Given the description of an element on the screen output the (x, y) to click on. 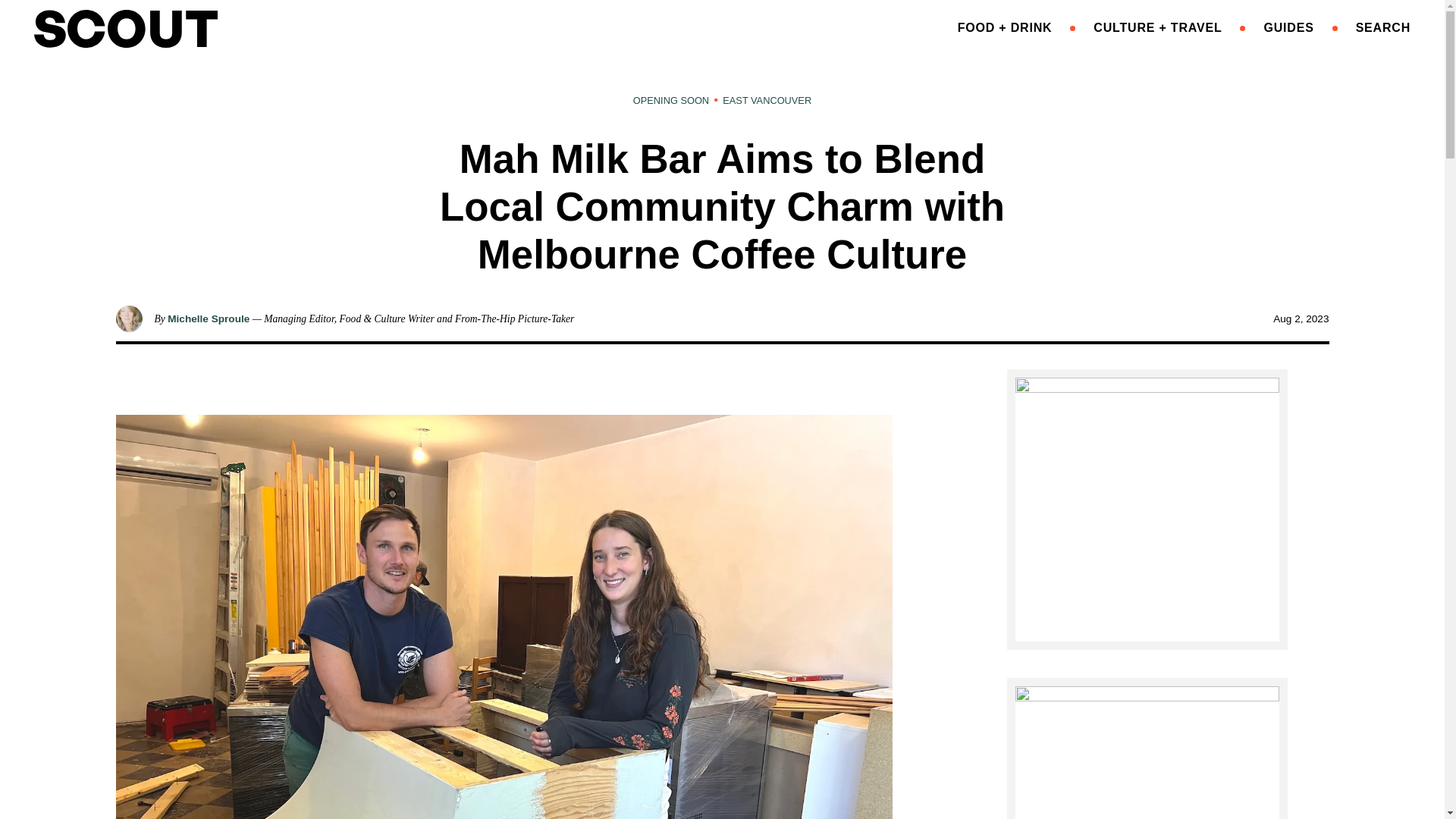
GUIDES (1288, 27)
SEARCH (1382, 27)
2023-08-02T10:53:25-07:00 (1299, 318)
EAST VANCOUVER (766, 100)
Michelle Sproule (207, 318)
OPENING SOON (671, 100)
